Given the description of an element on the screen output the (x, y) to click on. 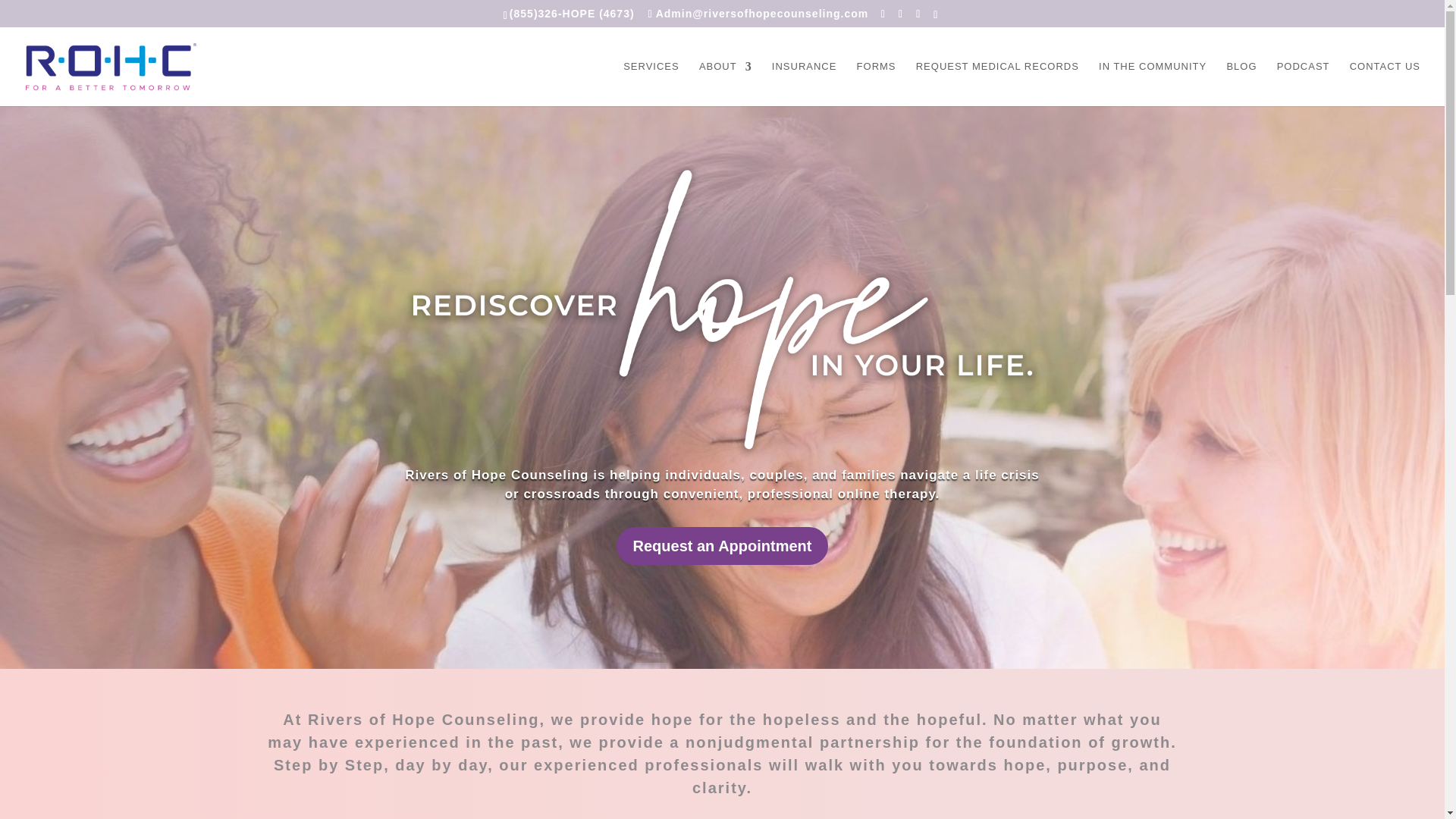
Request an Appointment (721, 546)
CONTACT US (1385, 83)
IN THE COMMUNITY (1153, 83)
ABOUT (725, 83)
REQUEST MEDICAL RECORDS (996, 83)
INSURANCE (804, 83)
SERVICES (651, 83)
PODCAST (1303, 83)
